Given the description of an element on the screen output the (x, y) to click on. 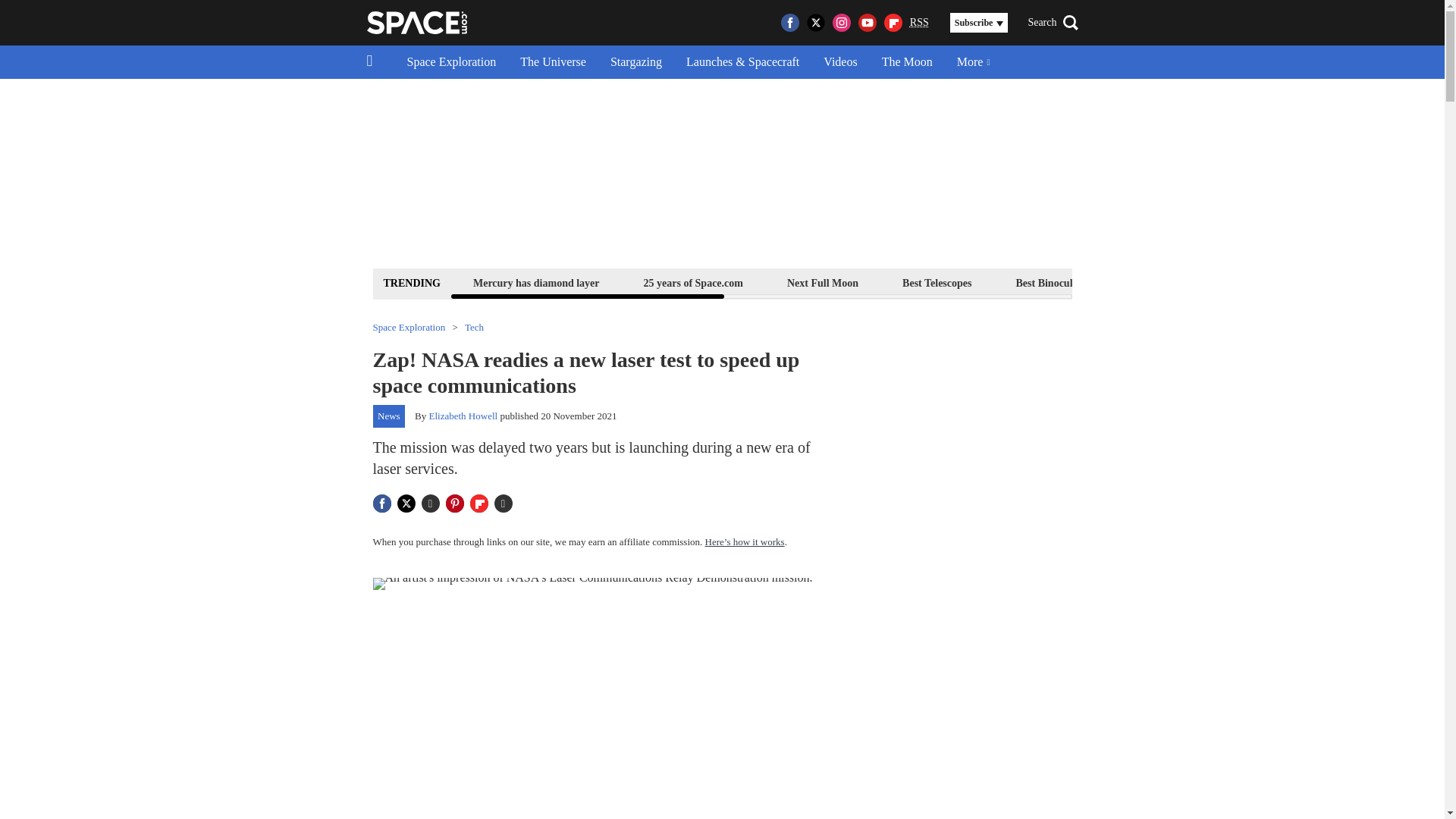
The Universe (553, 61)
Really Simple Syndication (919, 21)
Next Full Moon (822, 282)
Videos (839, 61)
Mercury has diamond layer (536, 282)
Best Star Projectors (1176, 282)
25 years of Space.com (693, 282)
Stargazing (636, 61)
Space Exploration (451, 61)
RSS (919, 22)
The Moon (906, 61)
Best Telescopes (936, 282)
Best Binoculars (1051, 282)
Space Calendar (1301, 282)
